Given the description of an element on the screen output the (x, y) to click on. 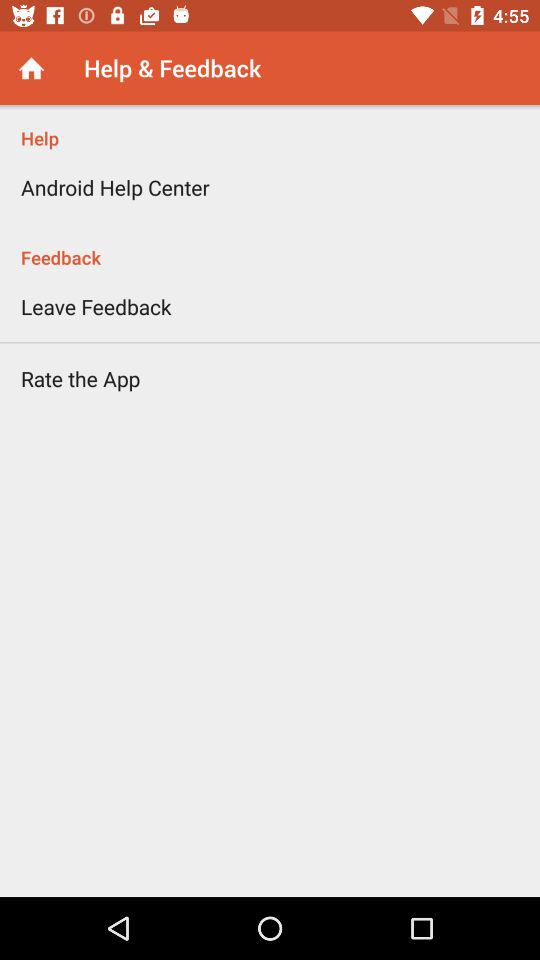
flip until the android help center icon (115, 187)
